Given the description of an element on the screen output the (x, y) to click on. 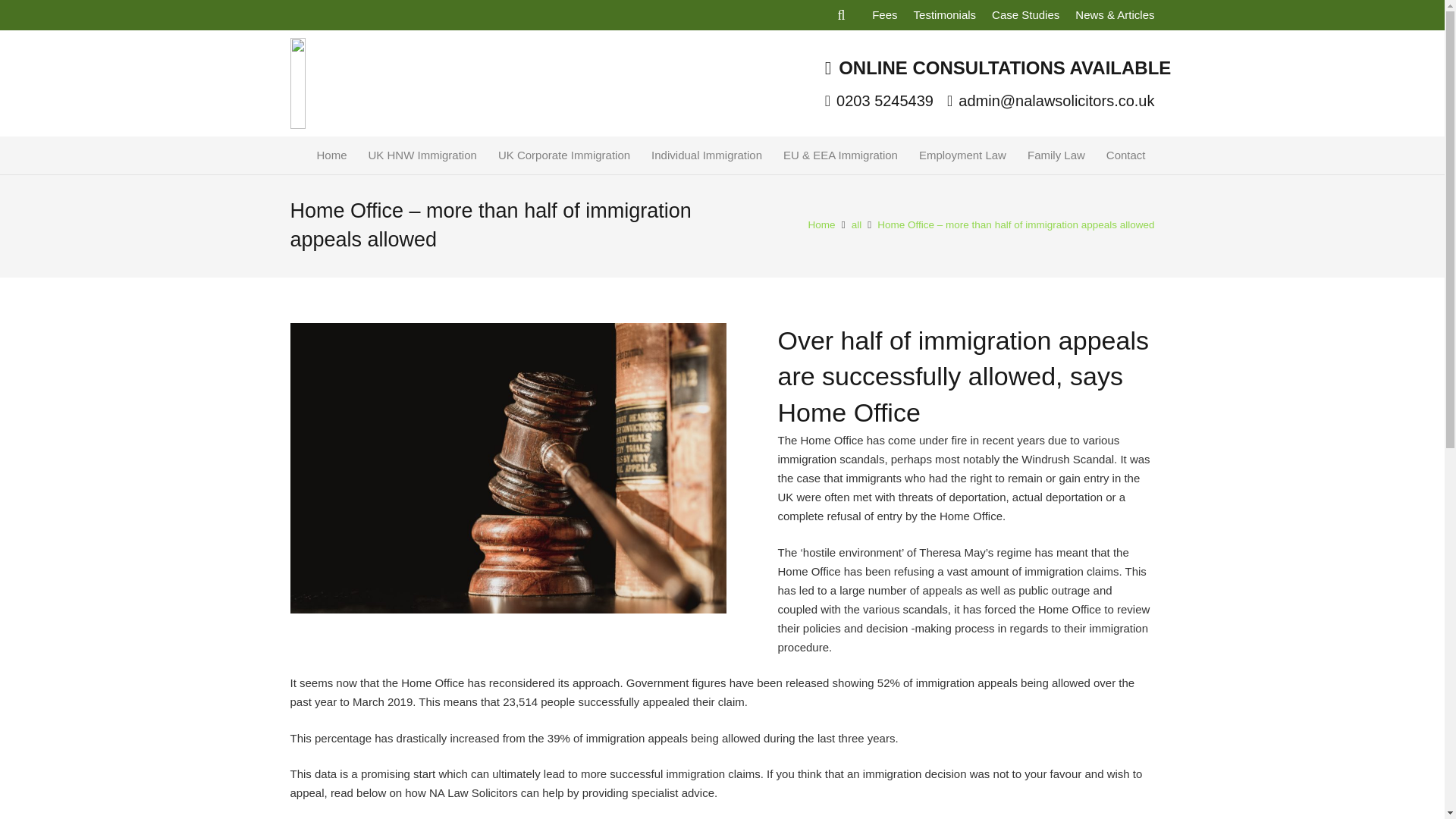
Fees (884, 14)
UK HNW Immigration (422, 155)
ONLINE CONSULTATIONS AVAILABLE (998, 67)
0203 5245439 (879, 100)
Case Studies (1025, 14)
Home (331, 155)
Testimonials (945, 14)
